Given the description of an element on the screen output the (x, y) to click on. 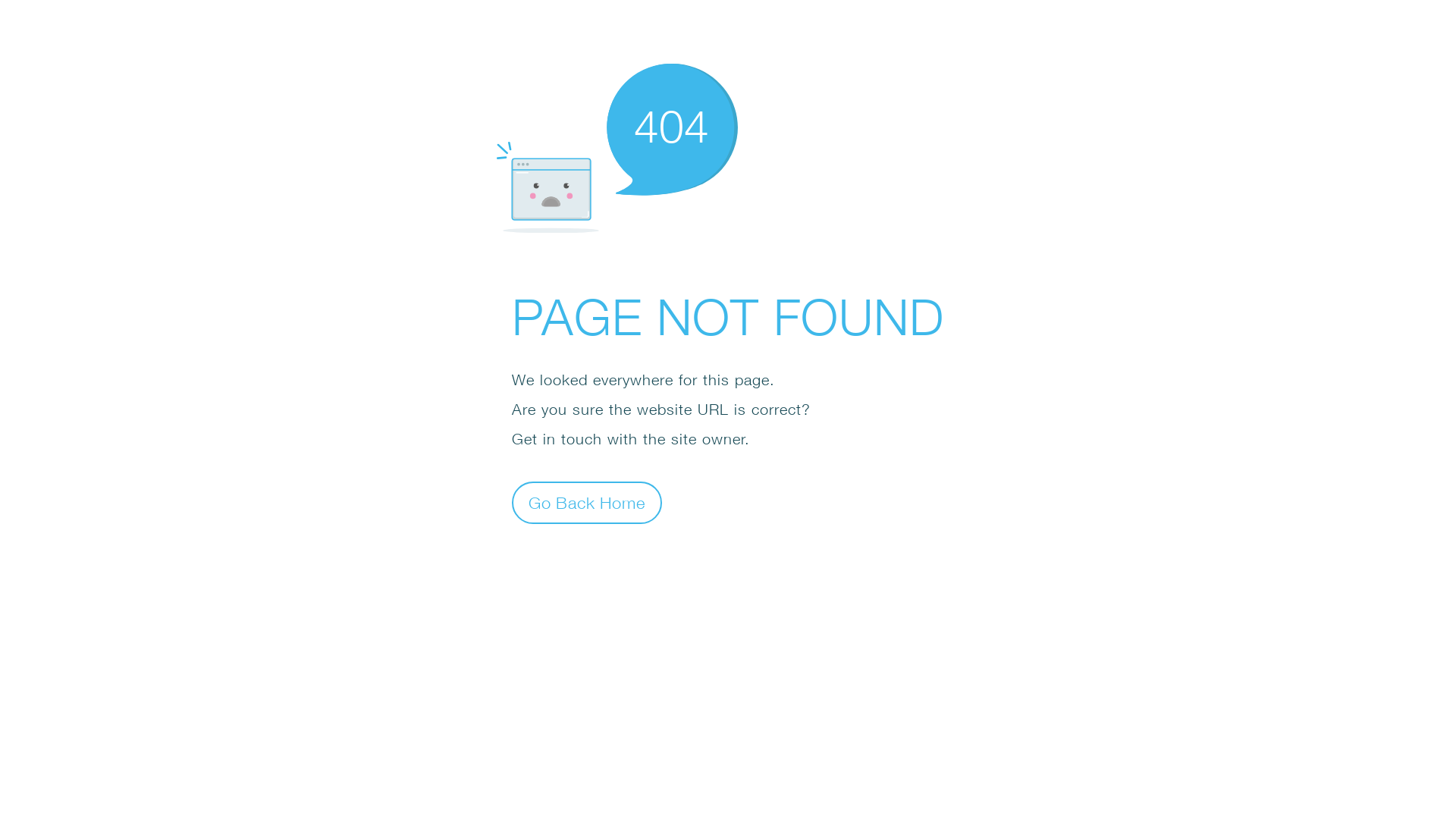
Go Back Home Element type: text (586, 502)
